Given the description of an element on the screen output the (x, y) to click on. 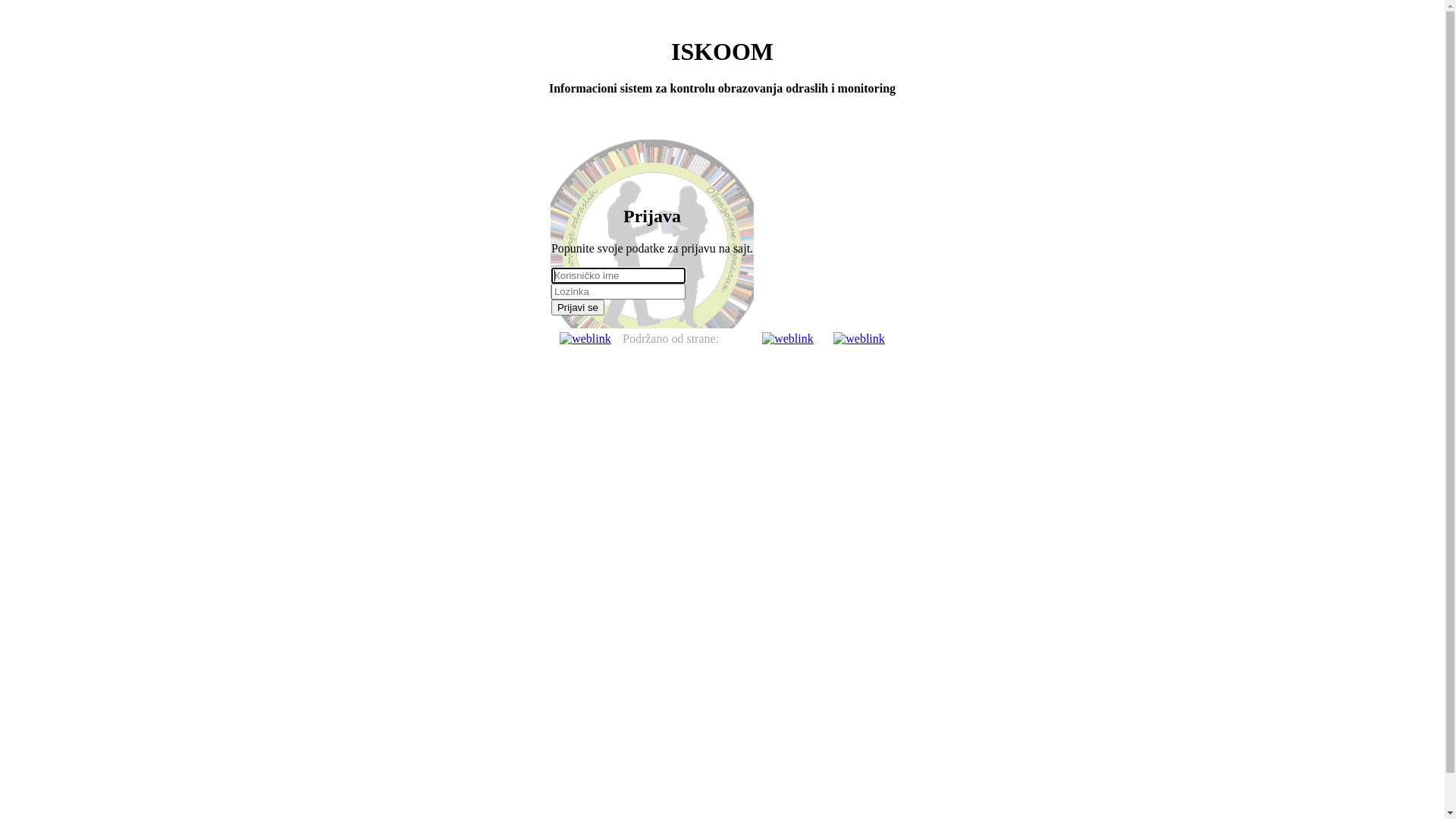
Prijavi se Element type: text (577, 307)
